Given the description of an element on the screen output the (x, y) to click on. 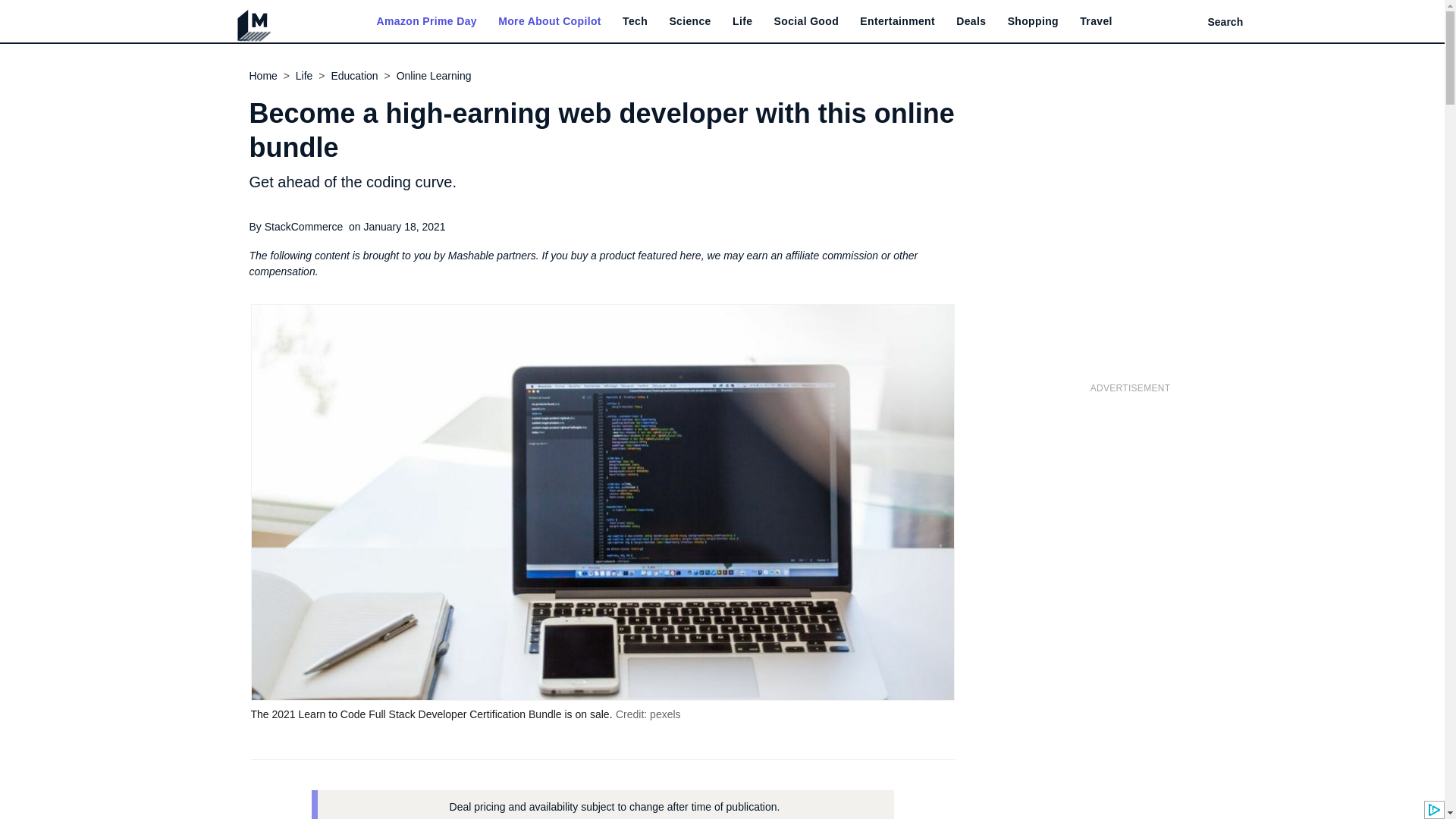
Travel (1096, 21)
More About Copilot (549, 21)
Social Good (807, 21)
Life (742, 21)
Science (689, 21)
Deals (970, 21)
Tech (635, 21)
Shopping (1032, 21)
Amazon Prime Day (425, 21)
Entertainment (897, 21)
